Given the description of an element on the screen output the (x, y) to click on. 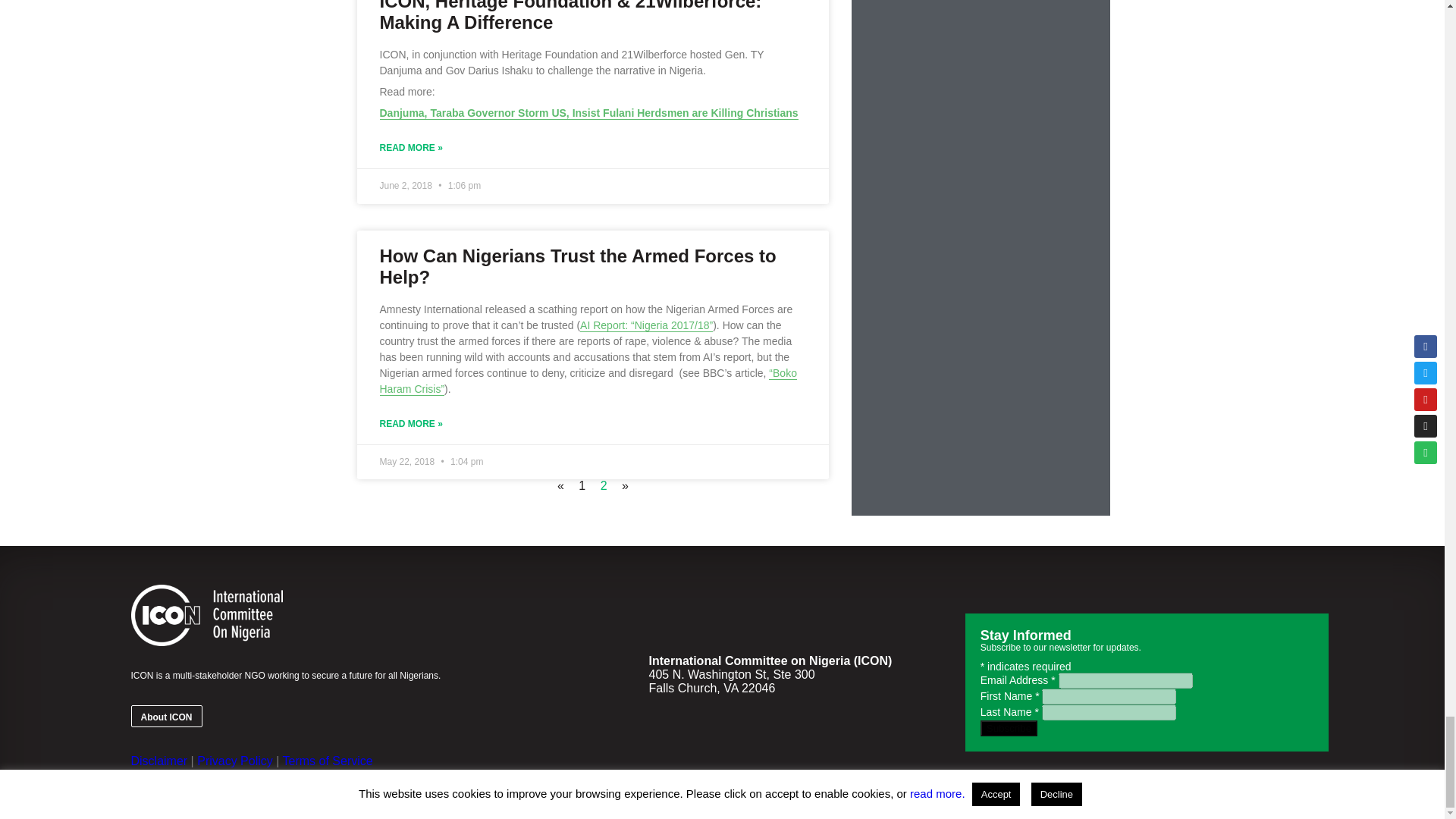
Subscribe (1007, 728)
